Given the description of an element on the screen output the (x, y) to click on. 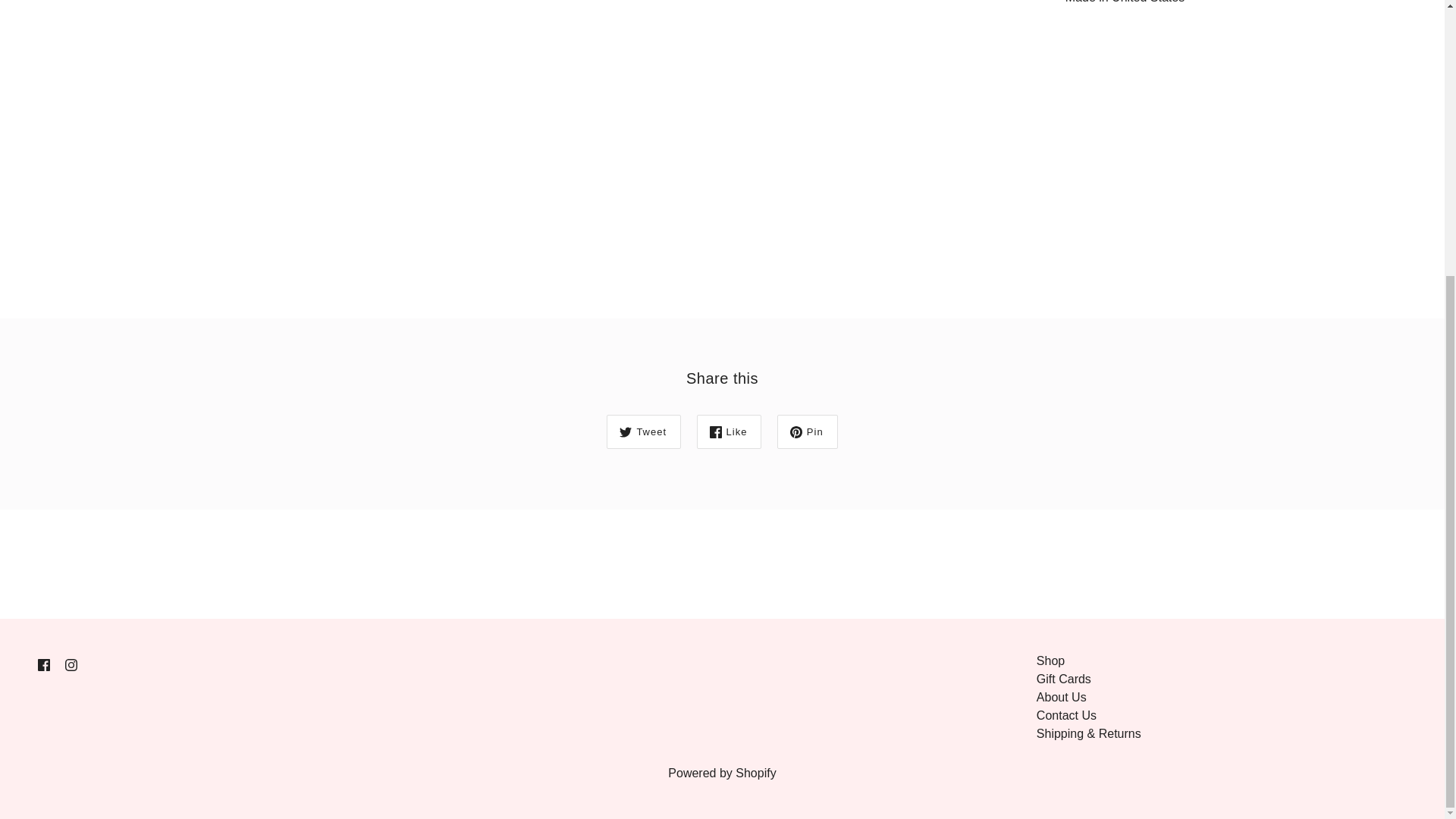
Gift Cards (1063, 678)
About Us (1061, 697)
Contact Us (1066, 715)
Shop (1050, 660)
